Given the description of an element on the screen output the (x, y) to click on. 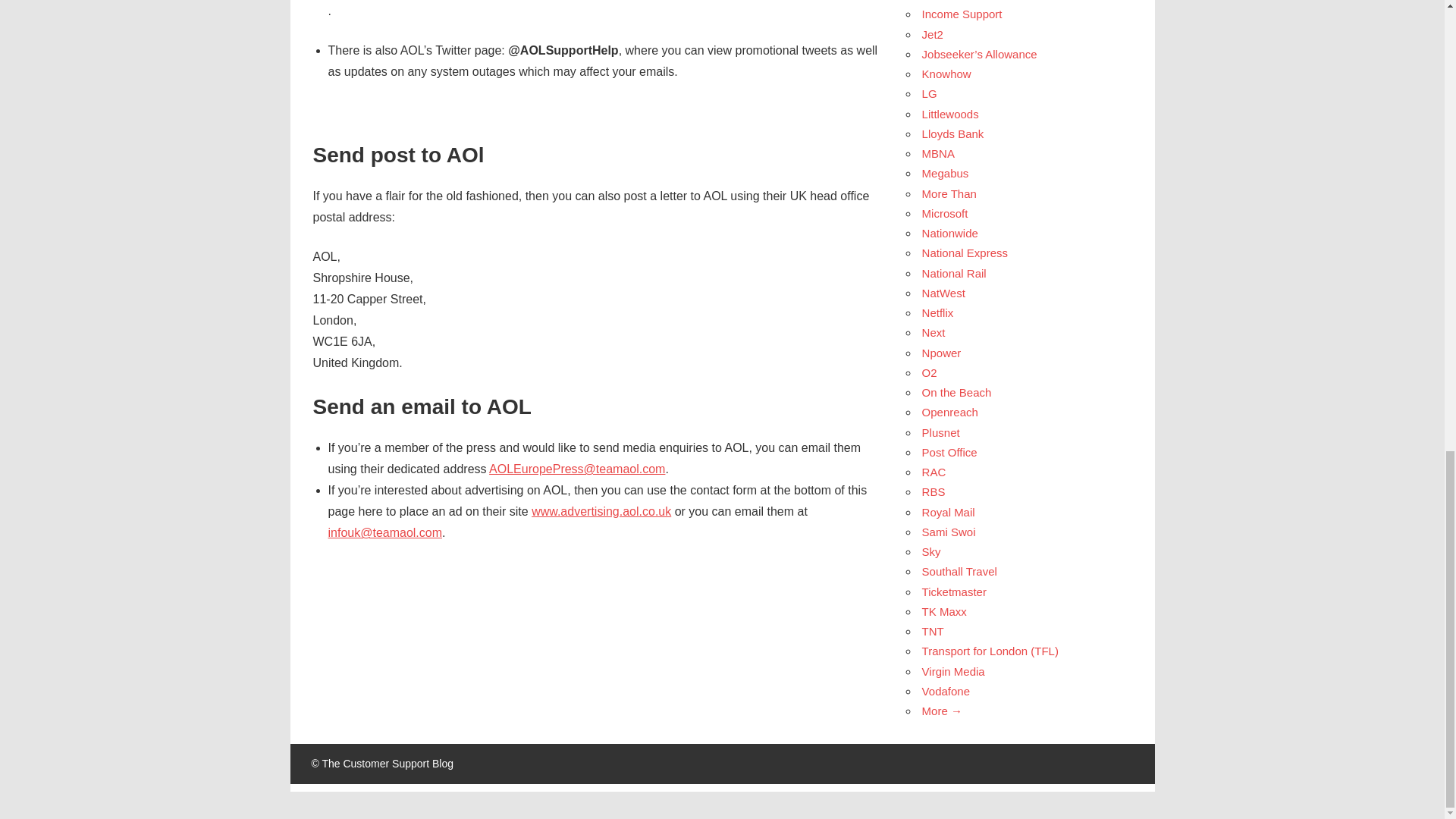
www.advertising.aol.co.uk (601, 511)
